Given the description of an element on the screen output the (x, y) to click on. 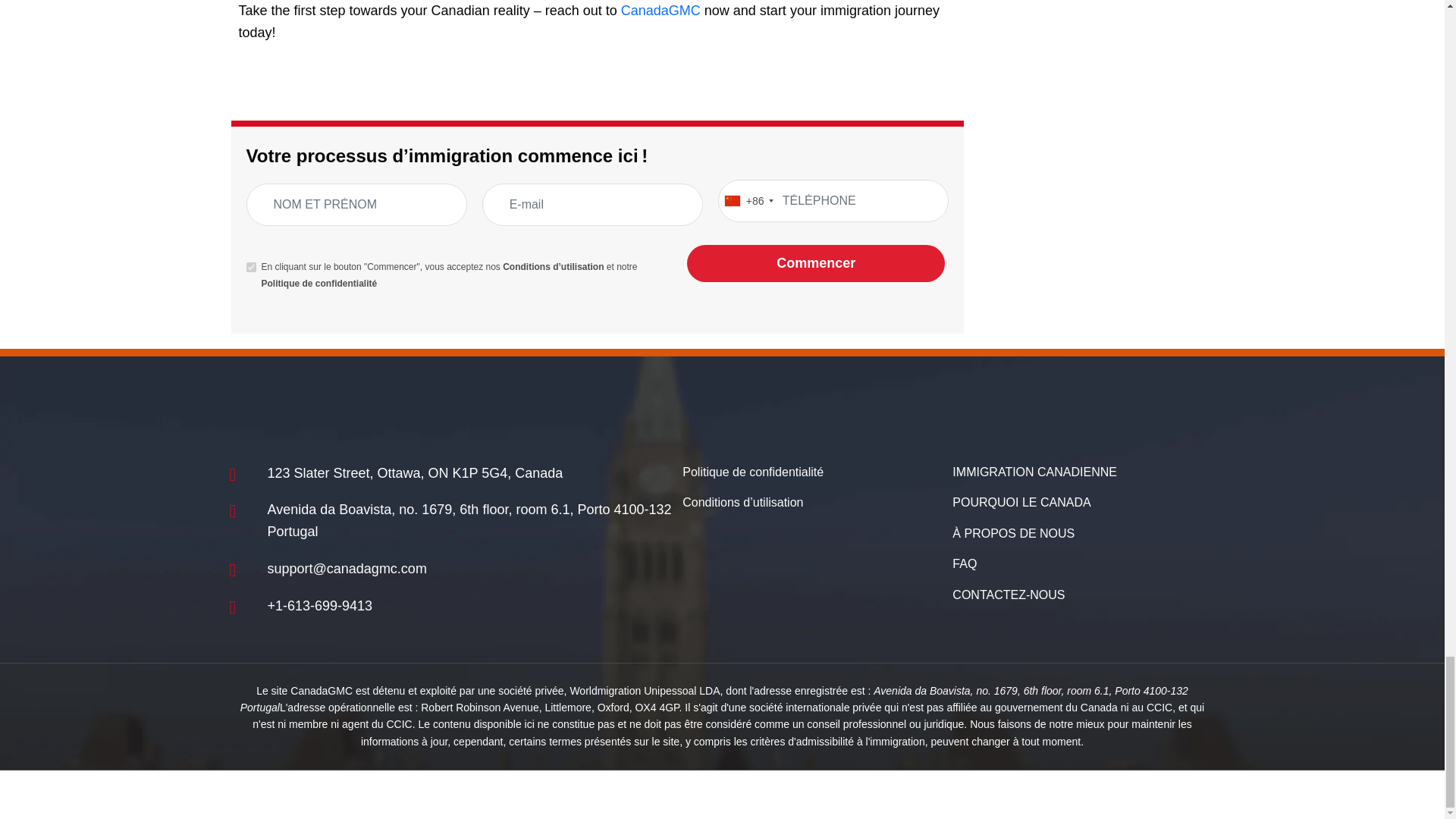
1 (251, 266)
Commencer (815, 262)
